Given the description of an element on the screen output the (x, y) to click on. 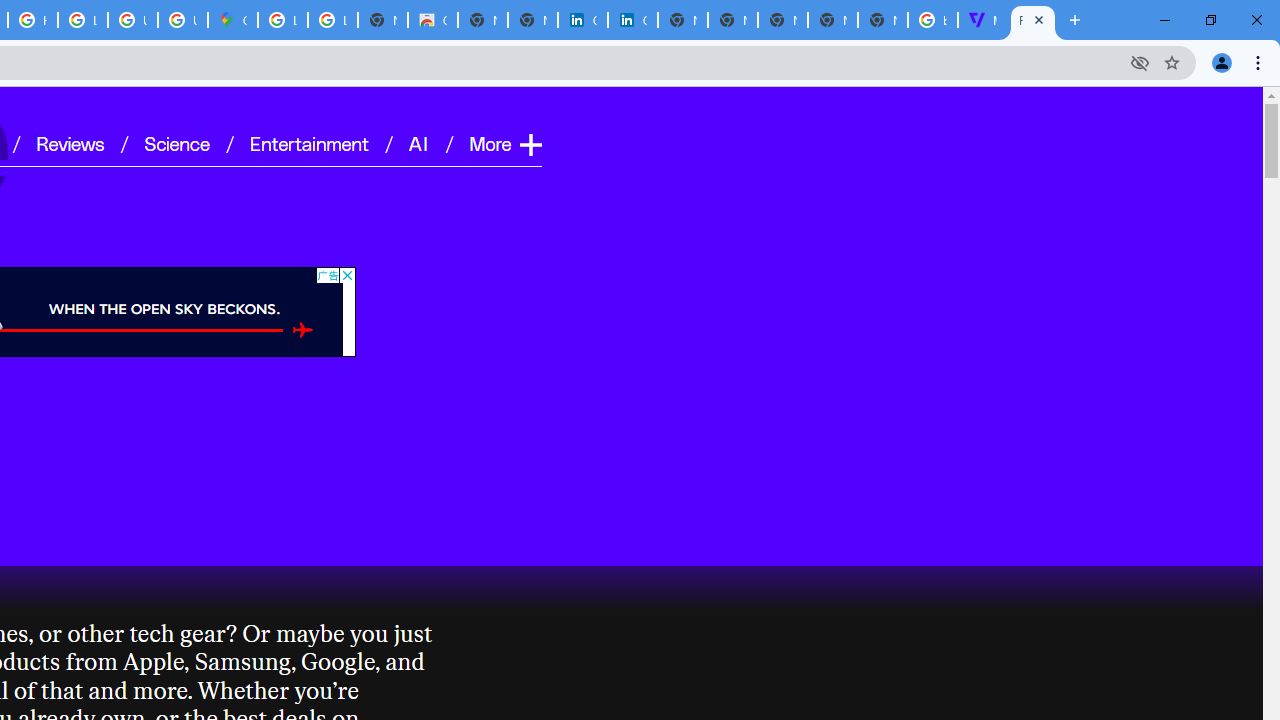
More Expand (504, 142)
New Tab (882, 20)
Cookie Policy | LinkedIn (582, 20)
Chrome Web Store (433, 20)
Reviews (69, 142)
AutomationID: cbb (346, 274)
AI (419, 142)
